Given the description of an element on the screen output the (x, y) to click on. 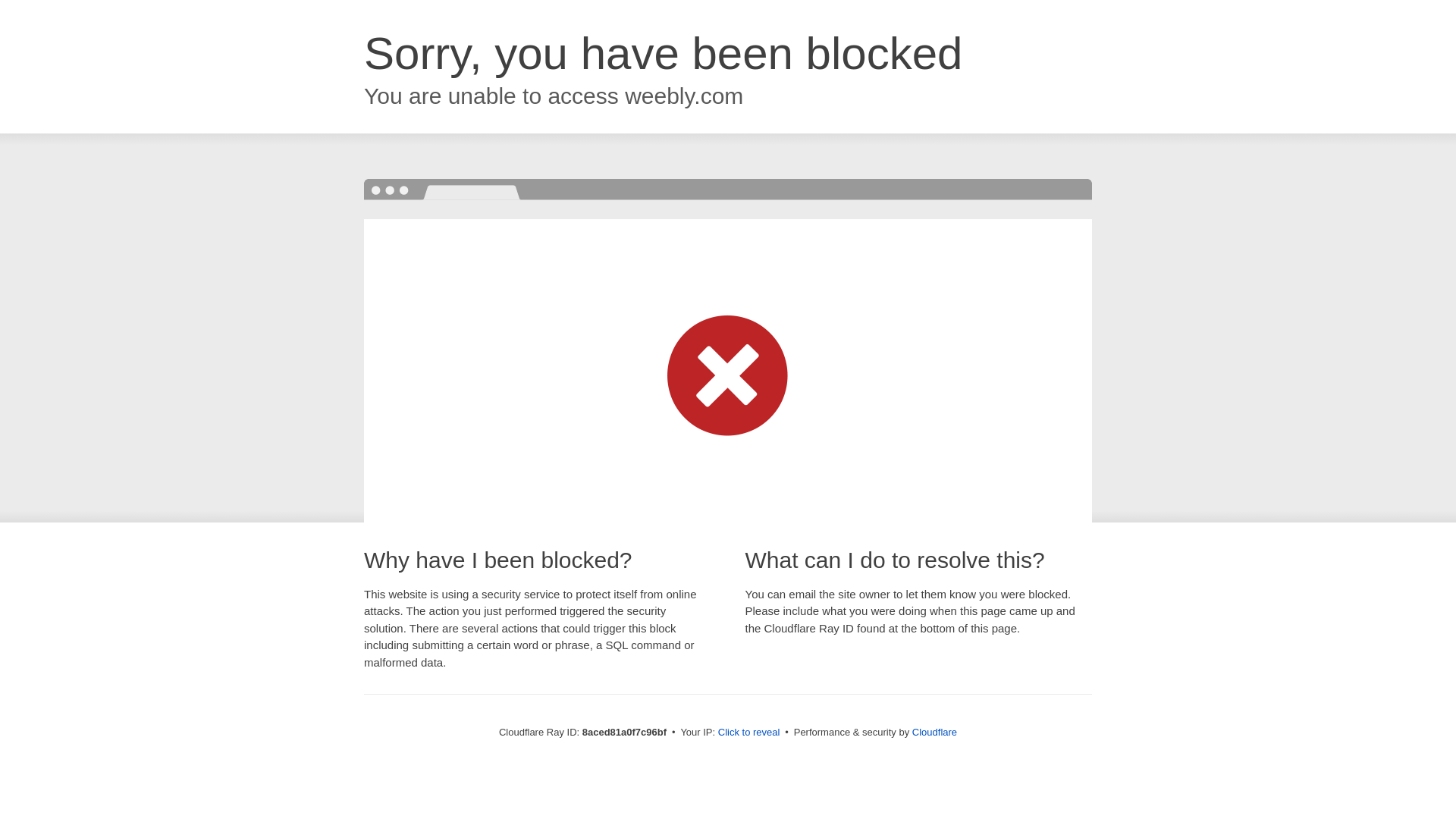
Cloudflare (934, 731)
Click to reveal (748, 732)
